Given the description of an element on the screen output the (x, y) to click on. 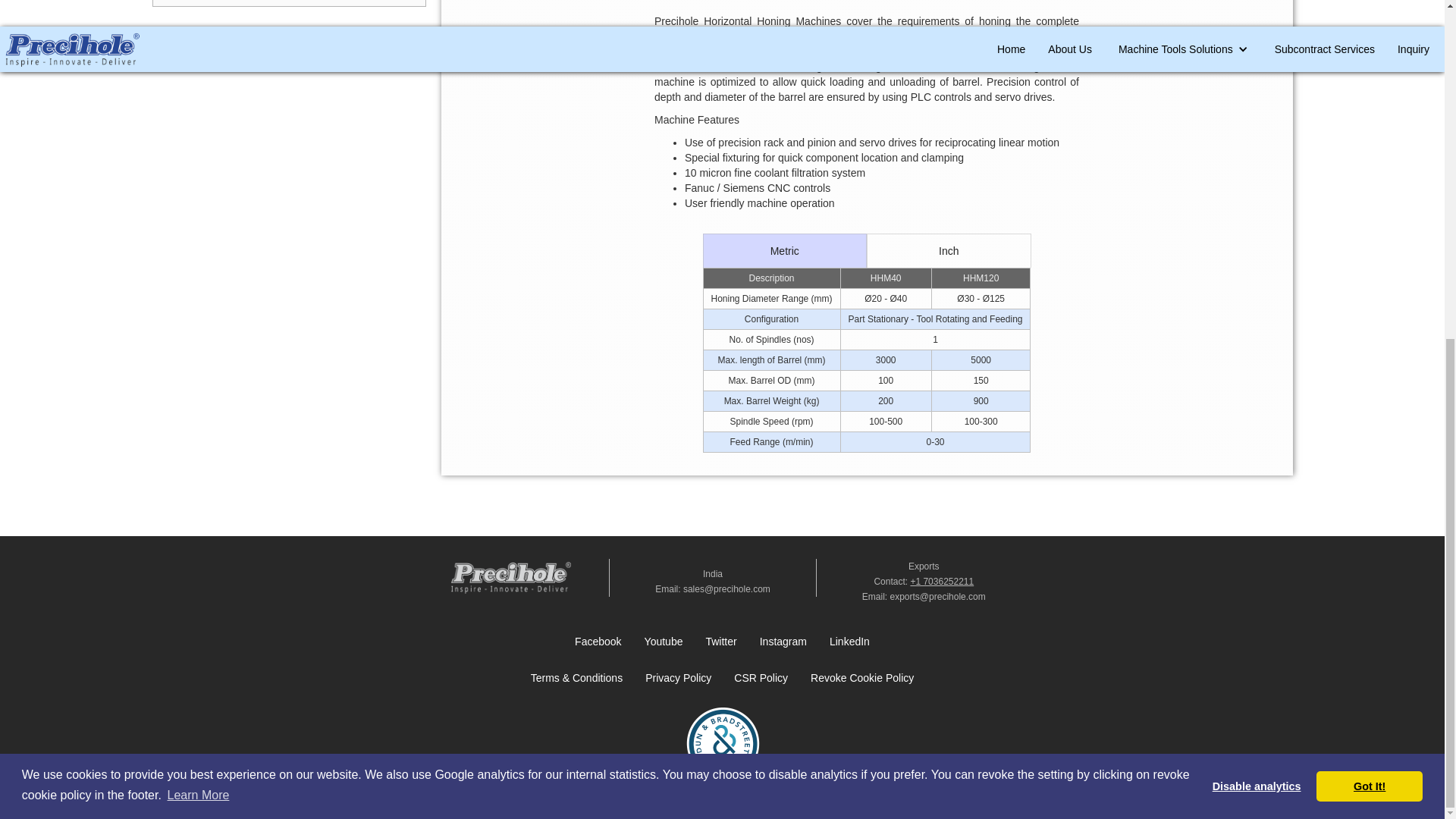
Learn More (197, 221)
Got It! (1369, 213)
Disable analytics (1256, 213)
